Given the description of an element on the screen output the (x, y) to click on. 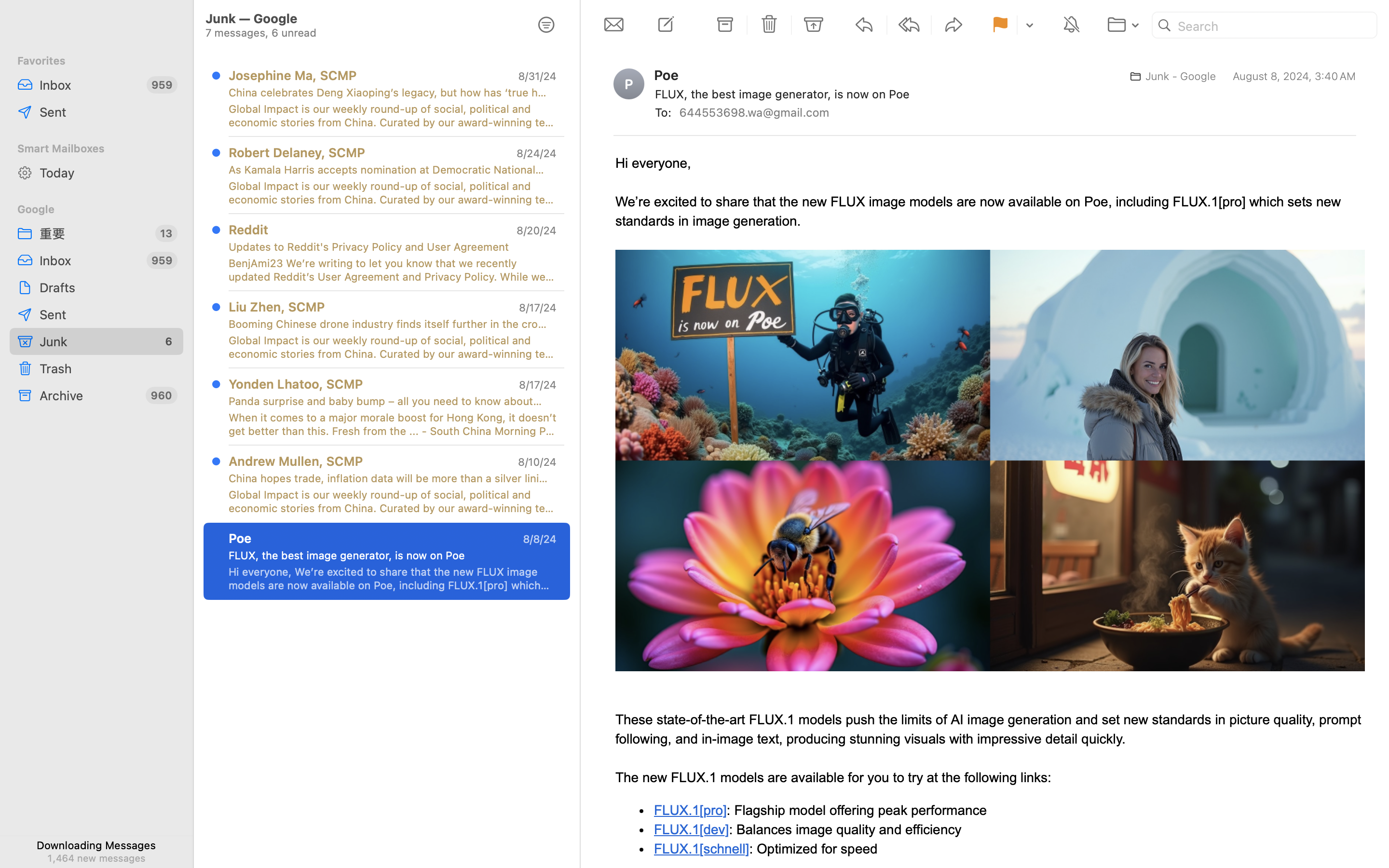
8/20/24 Element type: AXStaticText (535, 230)
Inbox Element type: AXStaticText (88, 84)
Andrew Mullen, SCMP Element type: AXStaticText (295, 460)
Drafts Element type: AXStaticText (107, 287)
